Given the description of an element on the screen output the (x, y) to click on. 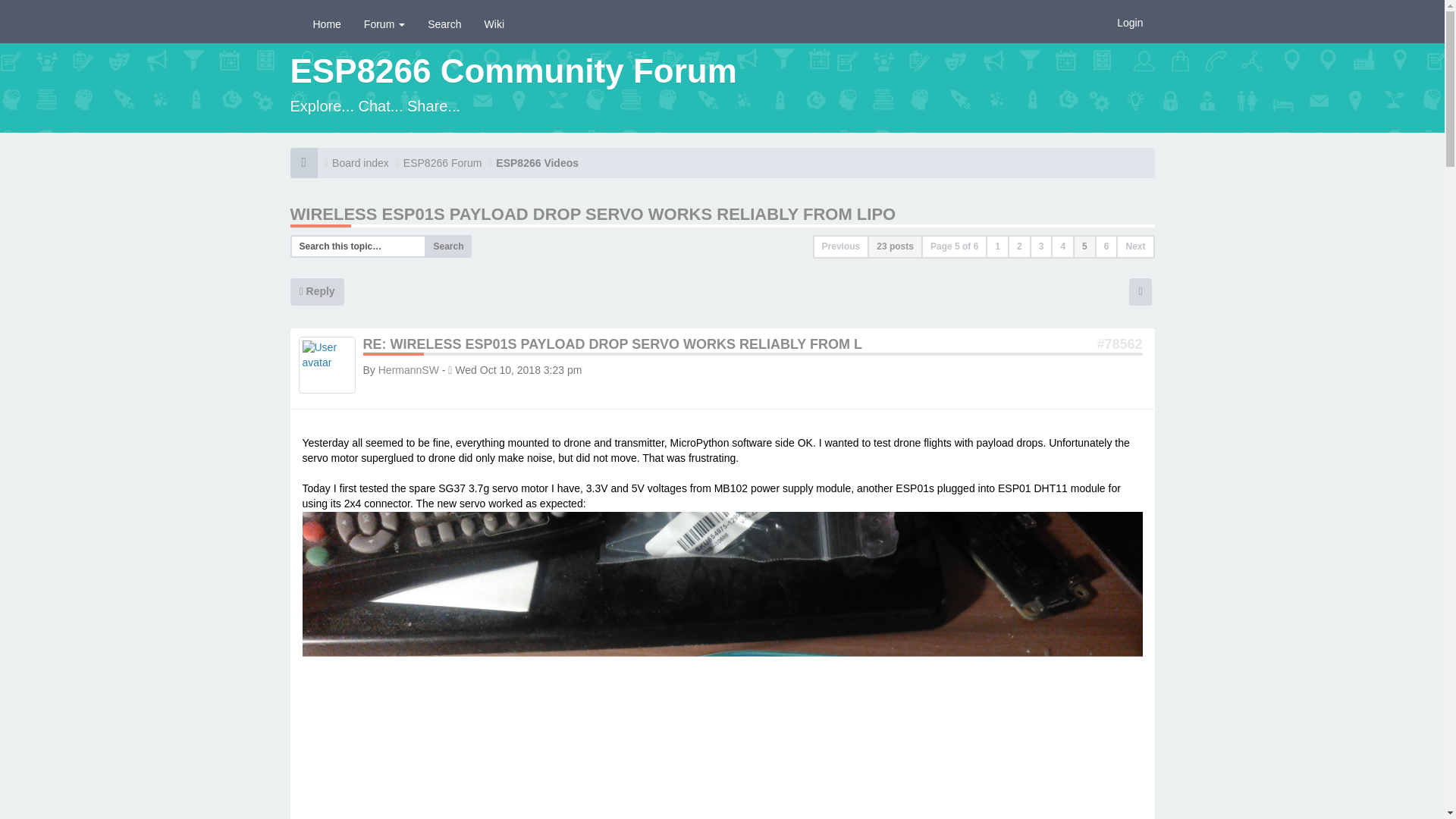
Home (326, 23)
HermannSW (408, 369)
Search (443, 23)
23 posts (895, 246)
ESP8266 Forum (442, 163)
WIRELESS ESP01S PAYLOAD DROP SERVO WORKS RELIABLY FROM LIPO (592, 213)
Previous (840, 246)
 Reply (316, 291)
5 (1084, 246)
Post (1118, 344)
